Given the description of an element on the screen output the (x, y) to click on. 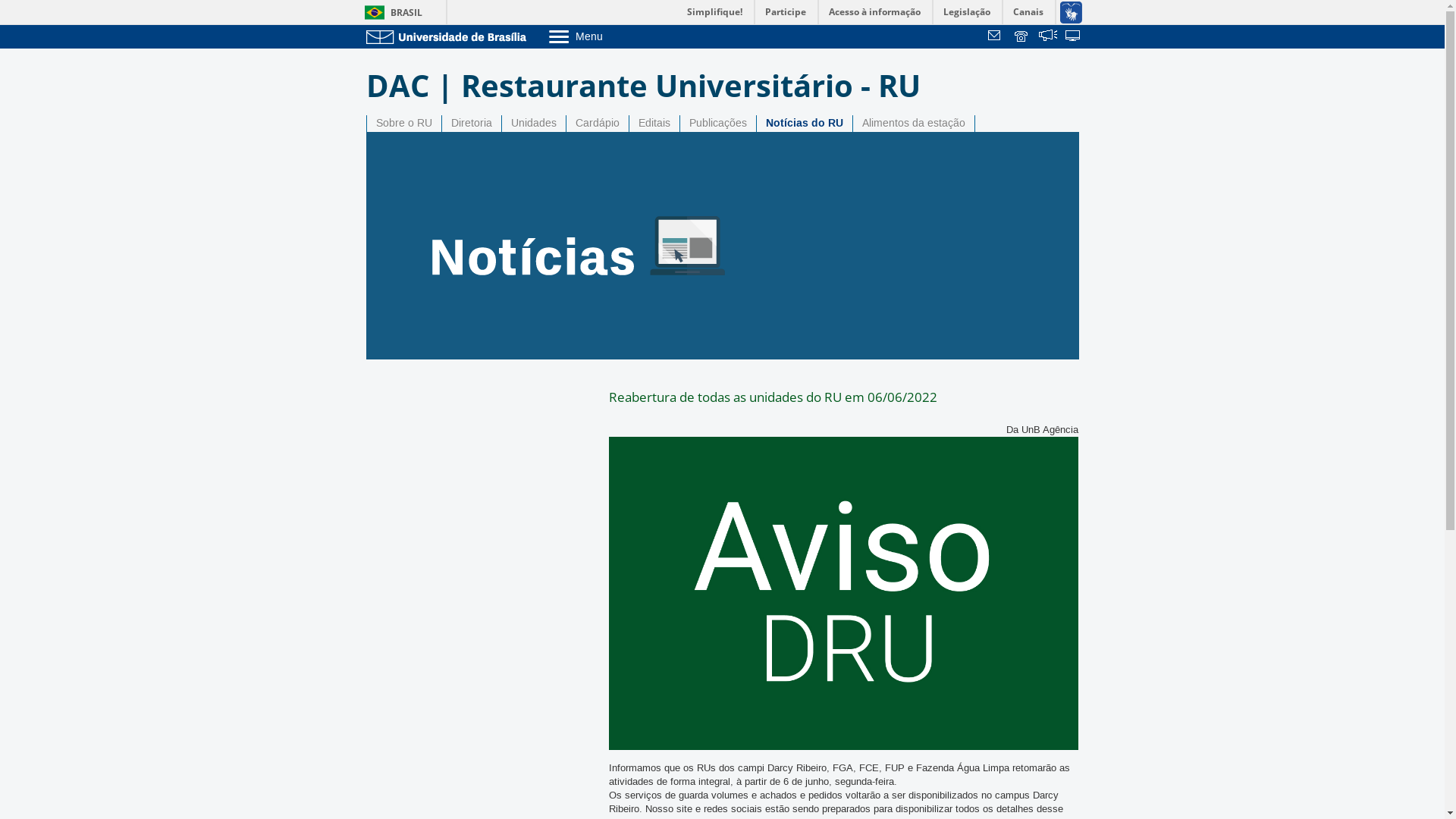
Diretoria Element type: text (470, 123)
  Element type: text (996, 37)
Webmail Element type: hover (996, 37)
Telefones da UnB Element type: hover (1022, 37)
Menu Element type: text (613, 35)
Sobre o RU Element type: text (404, 123)
Ir para o Portal da UnB Element type: hover (448, 36)
Editais Element type: text (654, 123)
BRASIL Element type: text (389, 12)
Sistemas Element type: hover (1073, 37)
Fala.BR Element type: hover (1047, 37)
  Element type: text (1073, 37)
  Element type: text (1022, 37)
Unidades Element type: text (533, 123)
  Element type: text (1047, 37)
